Given the description of an element on the screen output the (x, y) to click on. 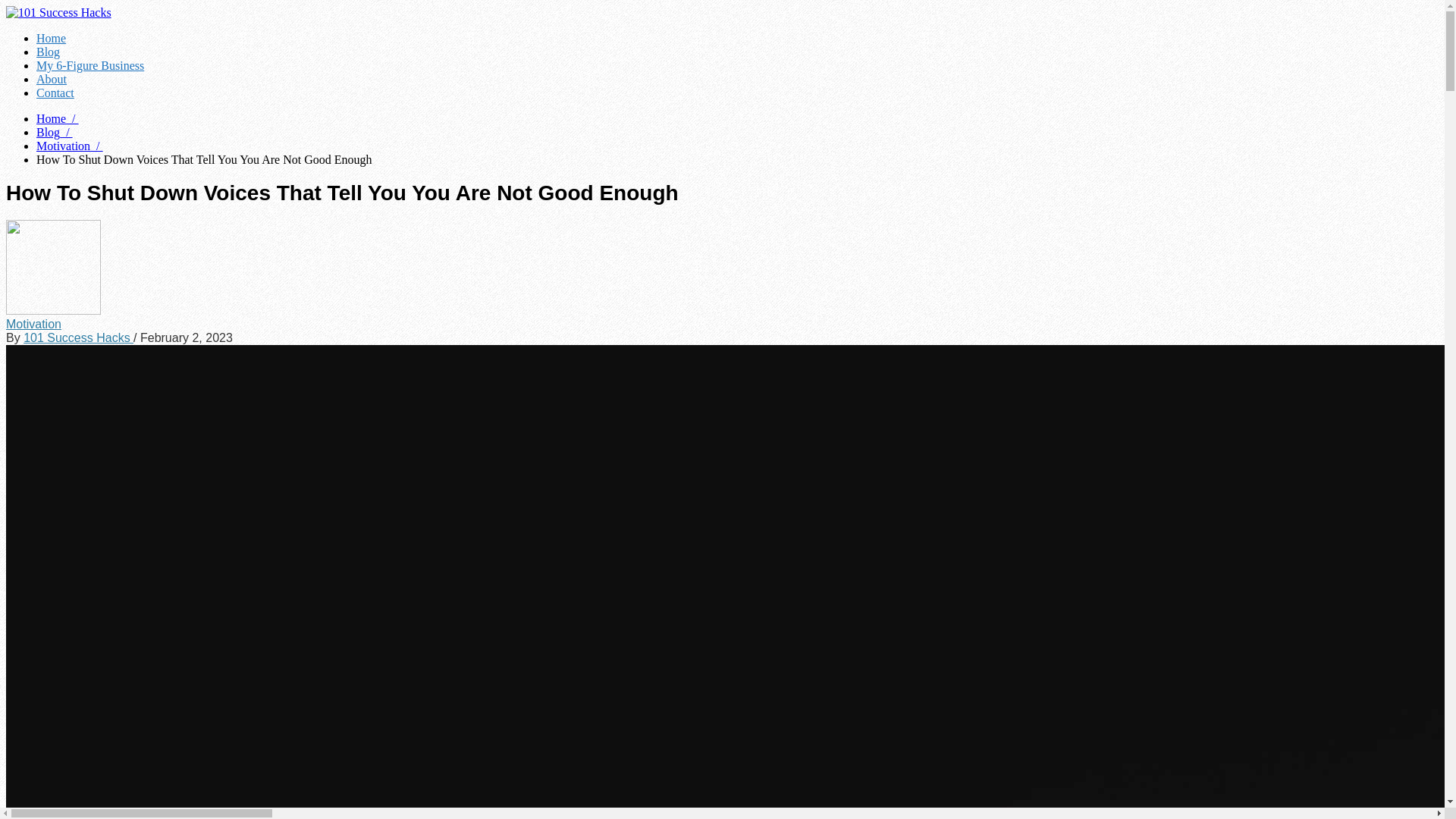
101 Success Hacks Element type: text (78, 336)
Blog Element type: text (47, 51)
About Element type: text (51, 78)
Motivation  /  Element type: text (69, 145)
My 6-Figure Business Element type: text (90, 65)
Home Element type: text (50, 37)
Home  /  Element type: text (57, 118)
Motivation Element type: text (33, 322)
Blog  /  Element type: text (54, 131)
Contact Element type: text (55, 92)
